Given the description of an element on the screen output the (x, y) to click on. 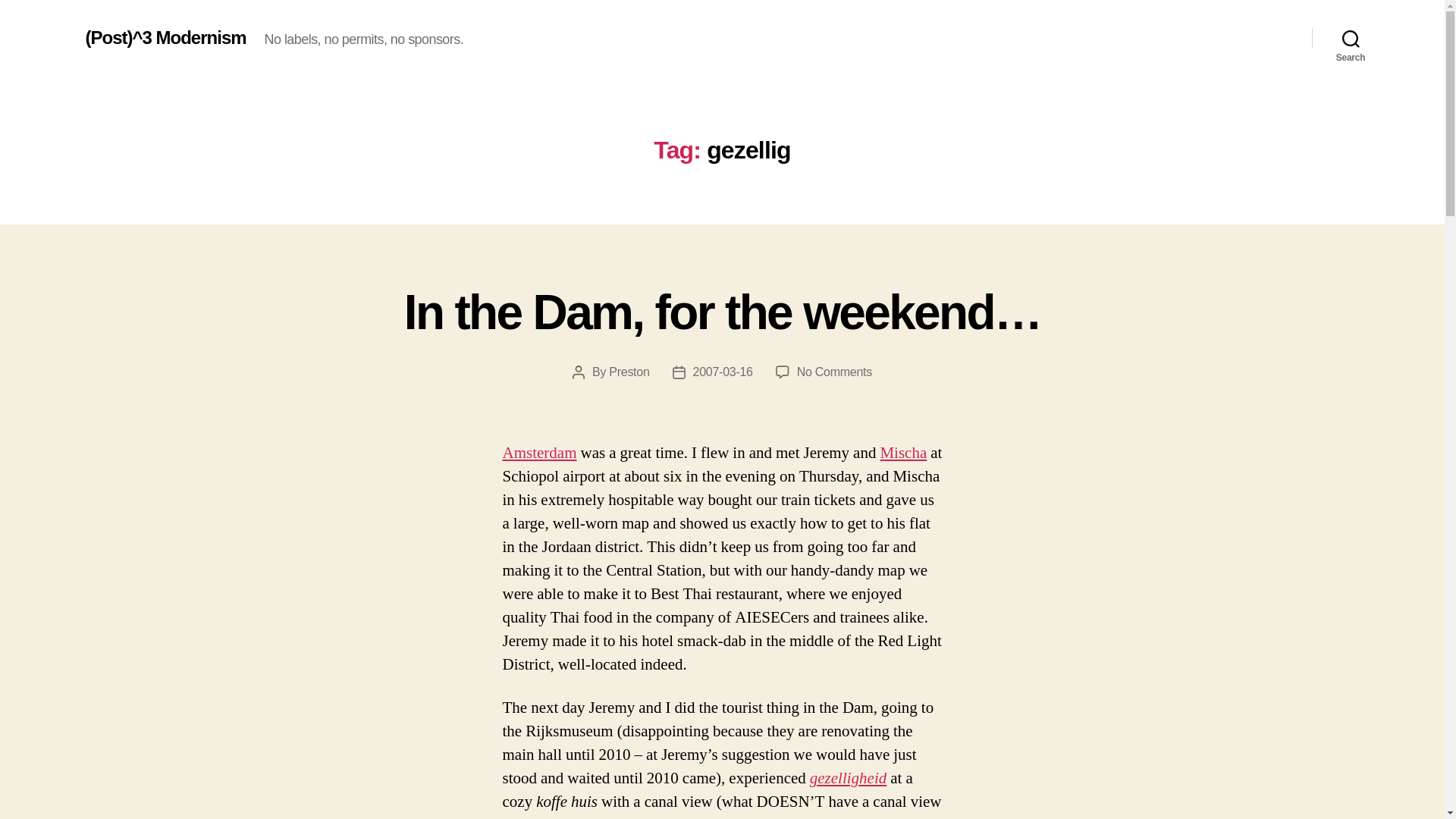
2007-03-16 (722, 371)
Amsterdam (539, 453)
gezelligheid (847, 778)
Preston (628, 371)
Mischa (902, 453)
Search (1350, 37)
